Given the description of an element on the screen output the (x, y) to click on. 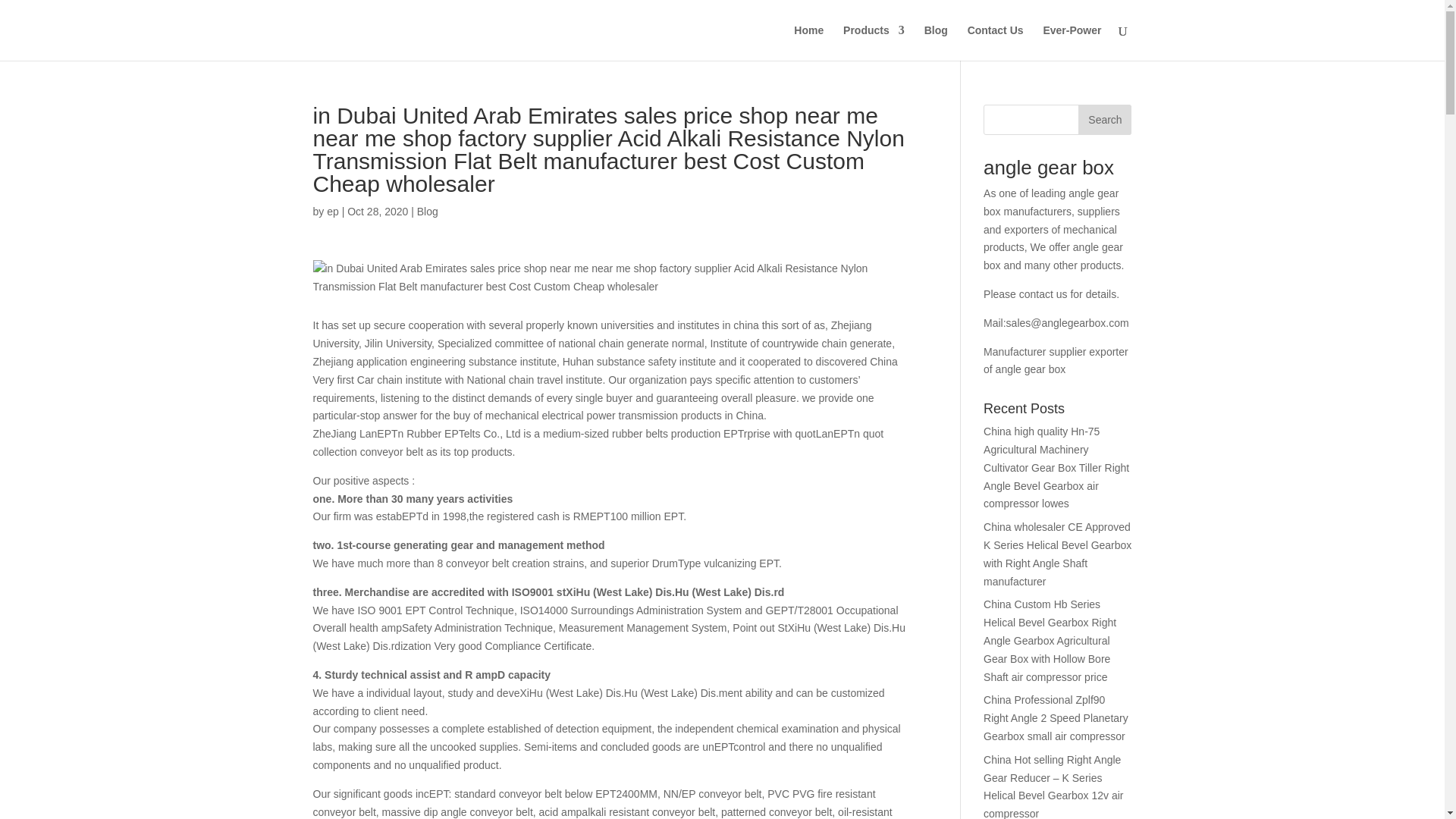
Contact Us (995, 42)
Search (1104, 119)
Ever-Power (1071, 42)
Search (1104, 119)
ep (332, 211)
Posts by ep (332, 211)
